Given the description of an element on the screen output the (x, y) to click on. 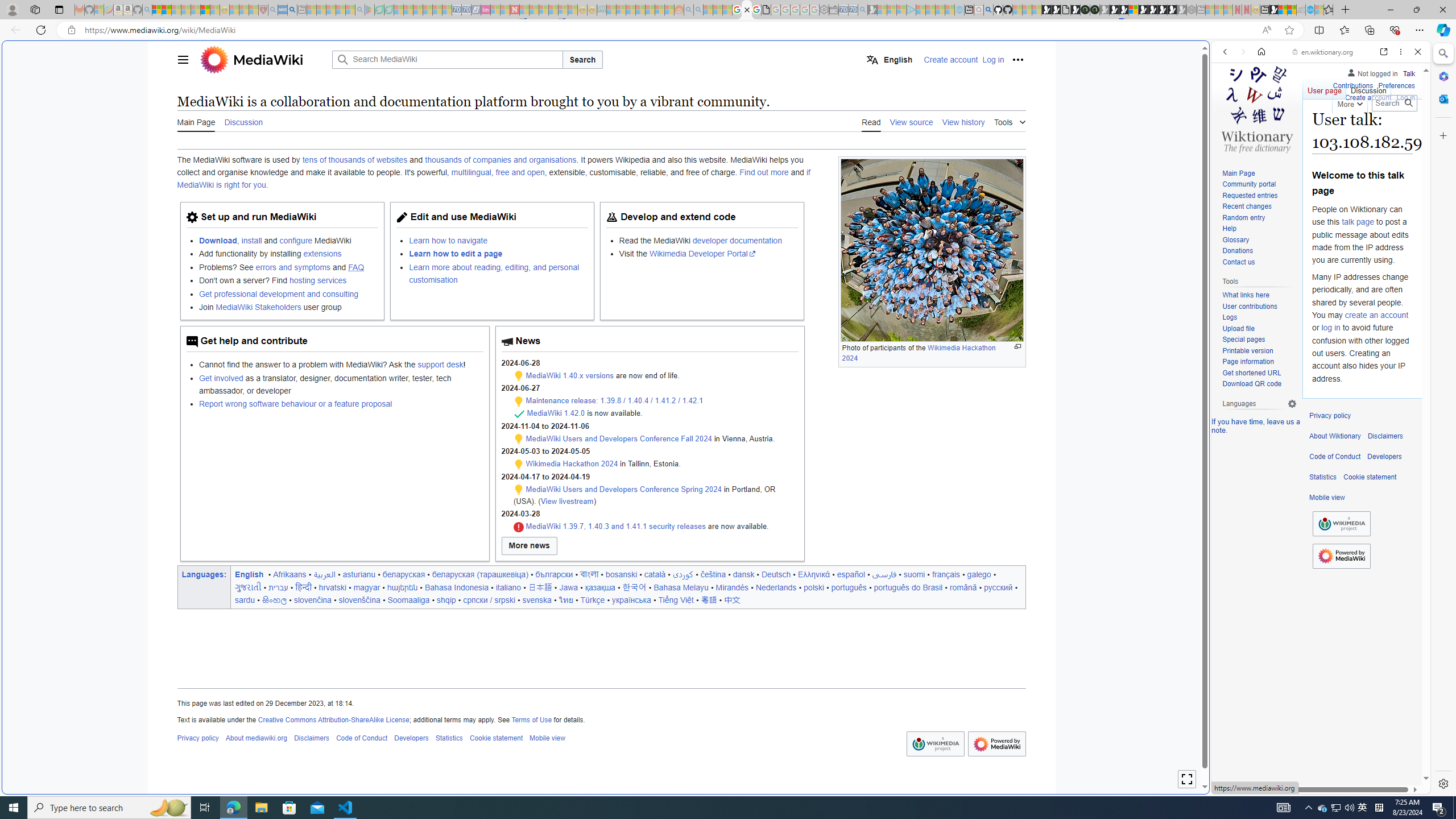
Page information (1259, 361)
Random entry (1259, 218)
Download QR code (1259, 383)
Disclaimers (1385, 436)
Close split screen (1208, 57)
thousands of companies and organisations (500, 159)
Security (518, 526)
Wikimedia Hackathon 2024 (571, 463)
